Given the description of an element on the screen output the (x, y) to click on. 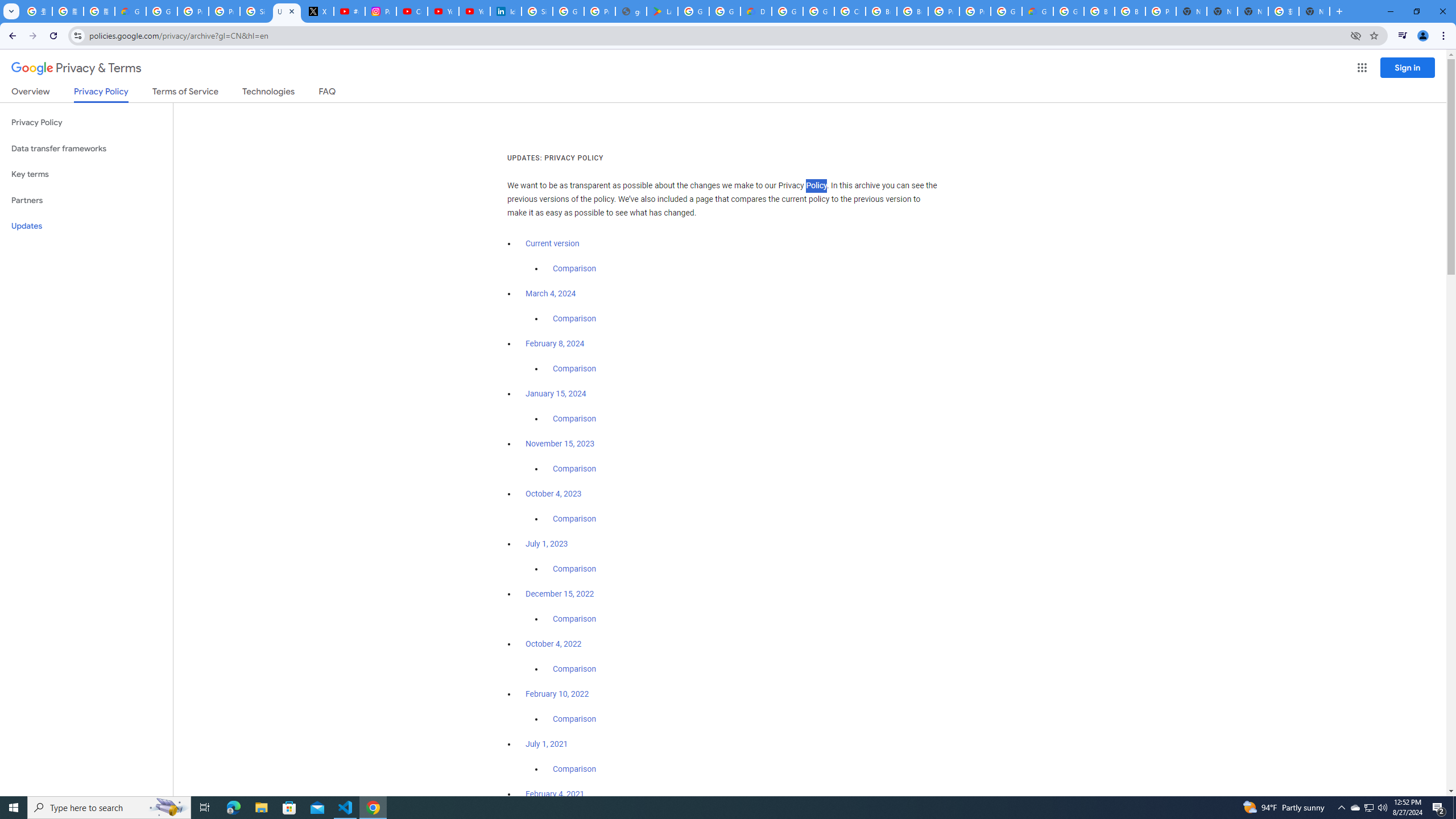
February 8, 2024 (555, 343)
YouTube Culture & Trends - YouTube Top 10, 2021 (474, 11)
google_privacy_policy_en.pdf (631, 11)
Terms of Service (184, 93)
Google Cloud Platform (787, 11)
Browse Chrome as a guest - Computer - Google Chrome Help (1129, 11)
